Given the description of an element on the screen output the (x, y) to click on. 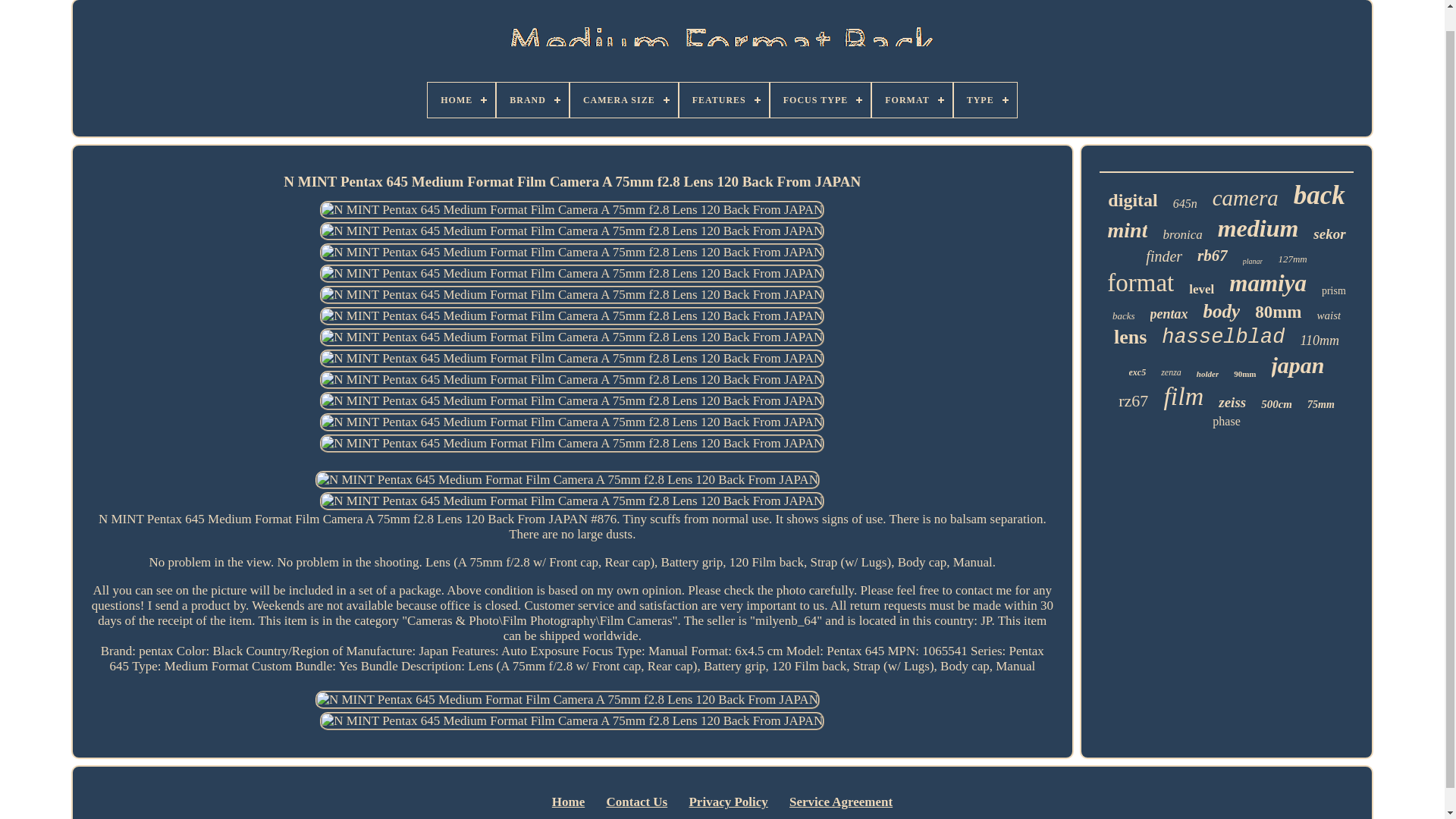
BRAND (532, 99)
CAMERA SIZE (624, 99)
